Given the description of an element on the screen output the (x, y) to click on. 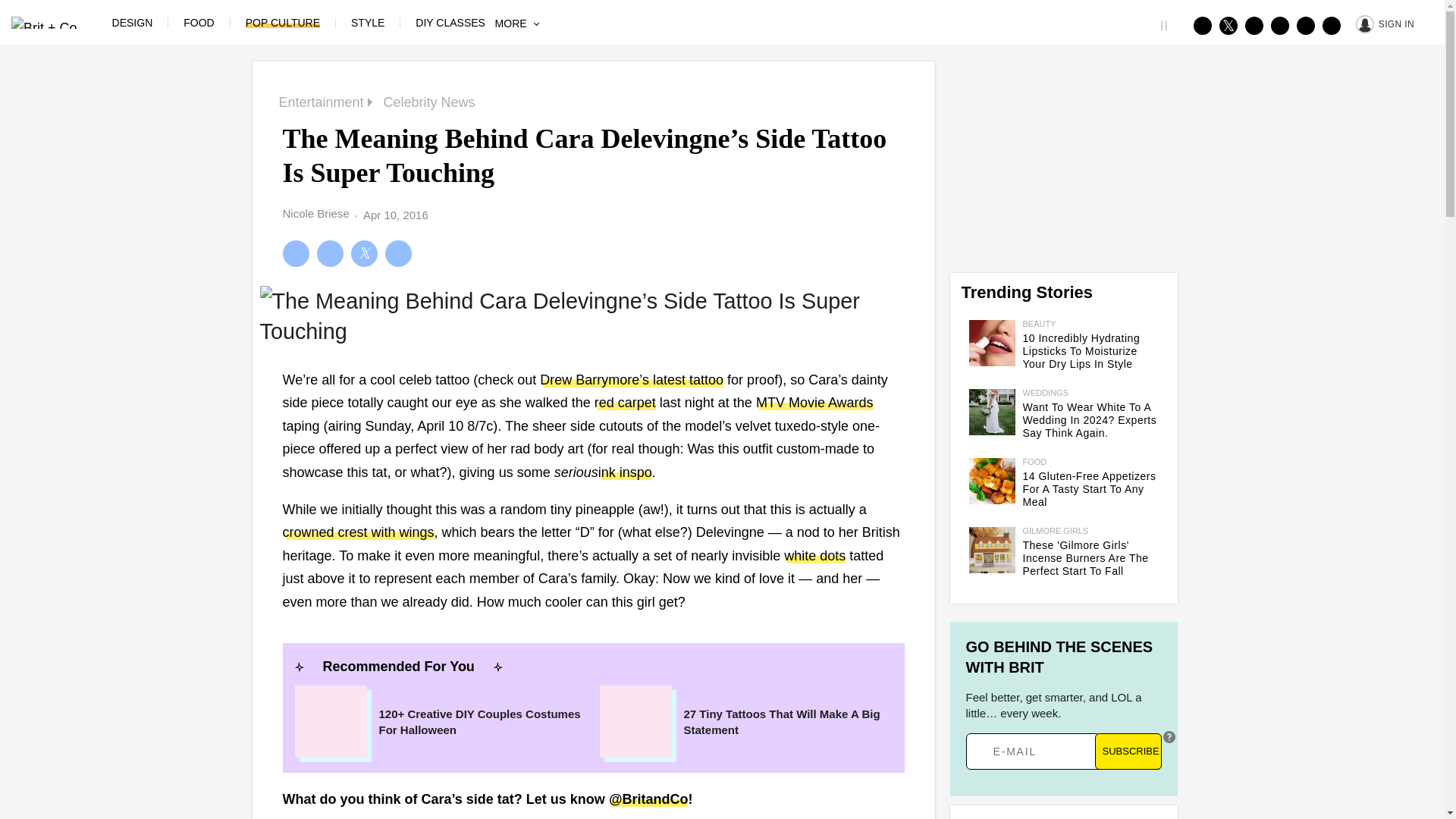
DESIGN (132, 22)
STYLE (367, 22)
SIGN IN (1384, 23)
FOOD (198, 22)
DIY CLASSES (449, 22)
POP CULTURE (283, 22)
